Given the description of an element on the screen output the (x, y) to click on. 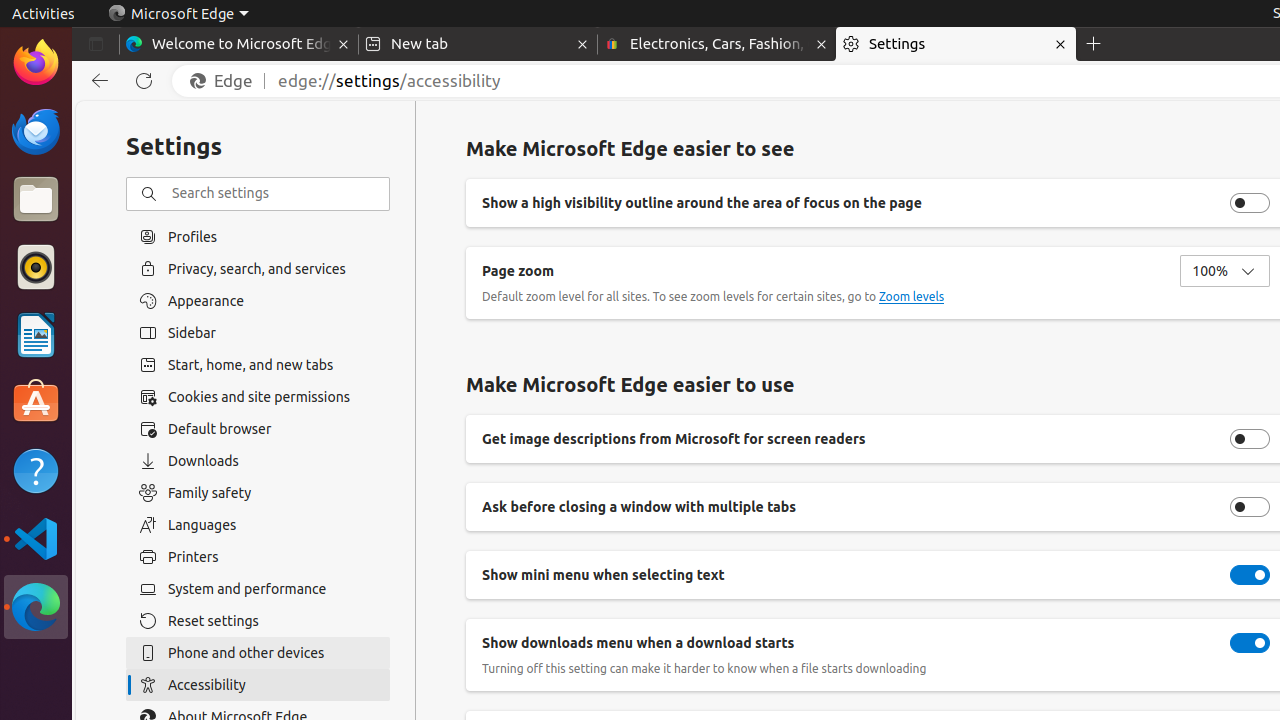
LibreOffice Writer Element type: push-button (36, 334)
Ubuntu Software Element type: push-button (36, 402)
Appearance Element type: tree-item (258, 301)
Microsoft Edge Element type: push-button (36, 607)
Electronics, Cars, Fashion, Collectibles & More | eBay Element type: page-tab (717, 44)
